Given the description of an element on the screen output the (x, y) to click on. 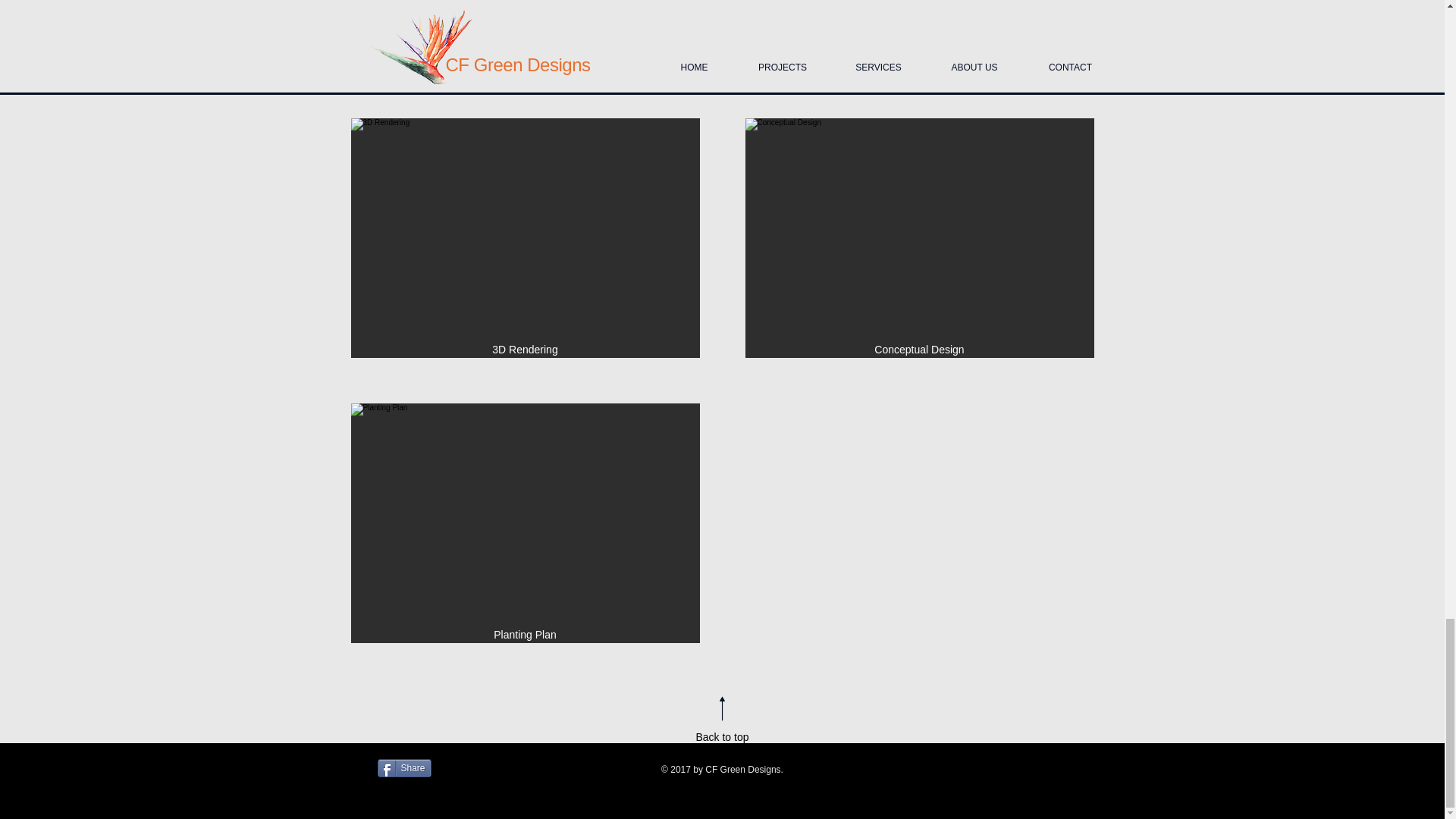
Back to top (721, 736)
Share (403, 768)
Share (403, 768)
Facebook Like (541, 776)
